Given the description of an element on the screen output the (x, y) to click on. 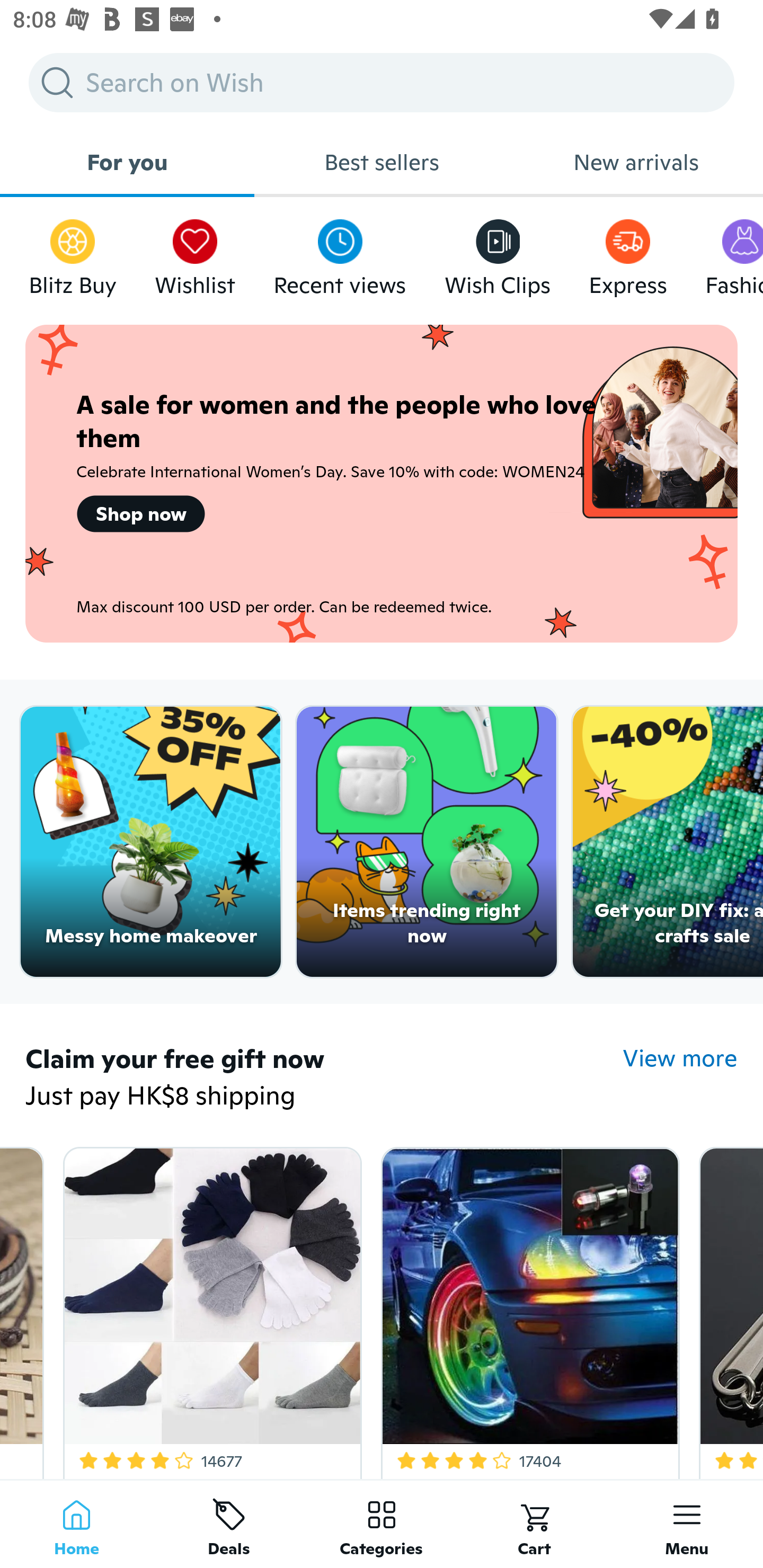
Search on Wish (381, 82)
For you (127, 161)
Best sellers (381, 161)
New arrivals (635, 161)
Blitz Buy (72, 252)
Wishlist (194, 252)
Recent views (339, 252)
Wish Clips (497, 252)
Express (627, 252)
Fashion (734, 252)
Messy home makeover (150, 841)
Items trending right now (426, 841)
Get your DIY fix: arts & crafts sale (668, 841)
Claim your free gift now
Just pay HK$8 shipping (323, 1078)
View more (679, 1058)
4.2 Star Rating 14677 Free (208, 1308)
3.8 Star Rating 17404 Free (526, 1308)
Home (76, 1523)
Deals (228, 1523)
Categories (381, 1523)
Cart (533, 1523)
Menu (686, 1523)
